Given the description of an element on the screen output the (x, y) to click on. 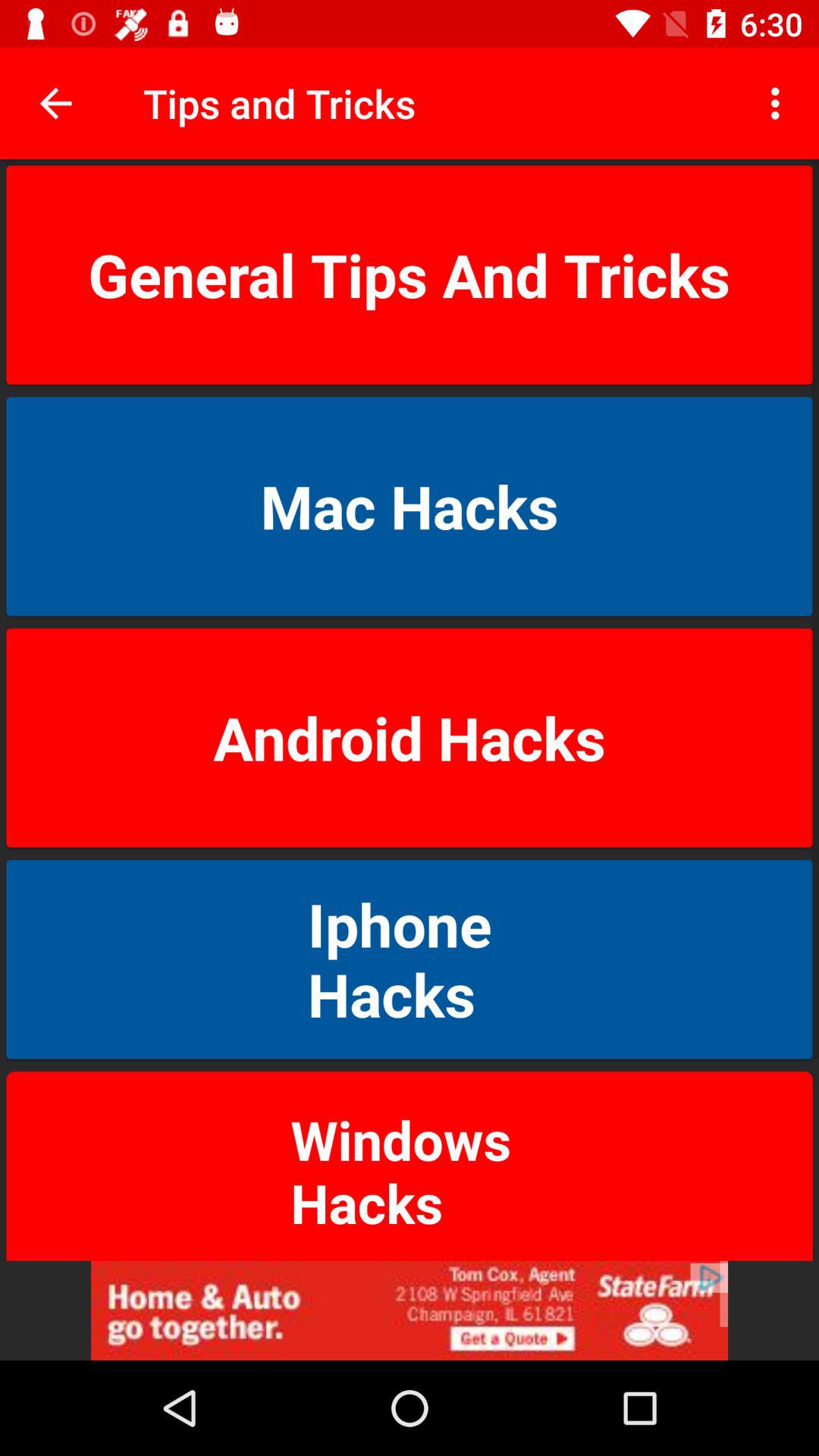
advertisement banner (409, 1310)
